Given the description of an element on the screen output the (x, y) to click on. 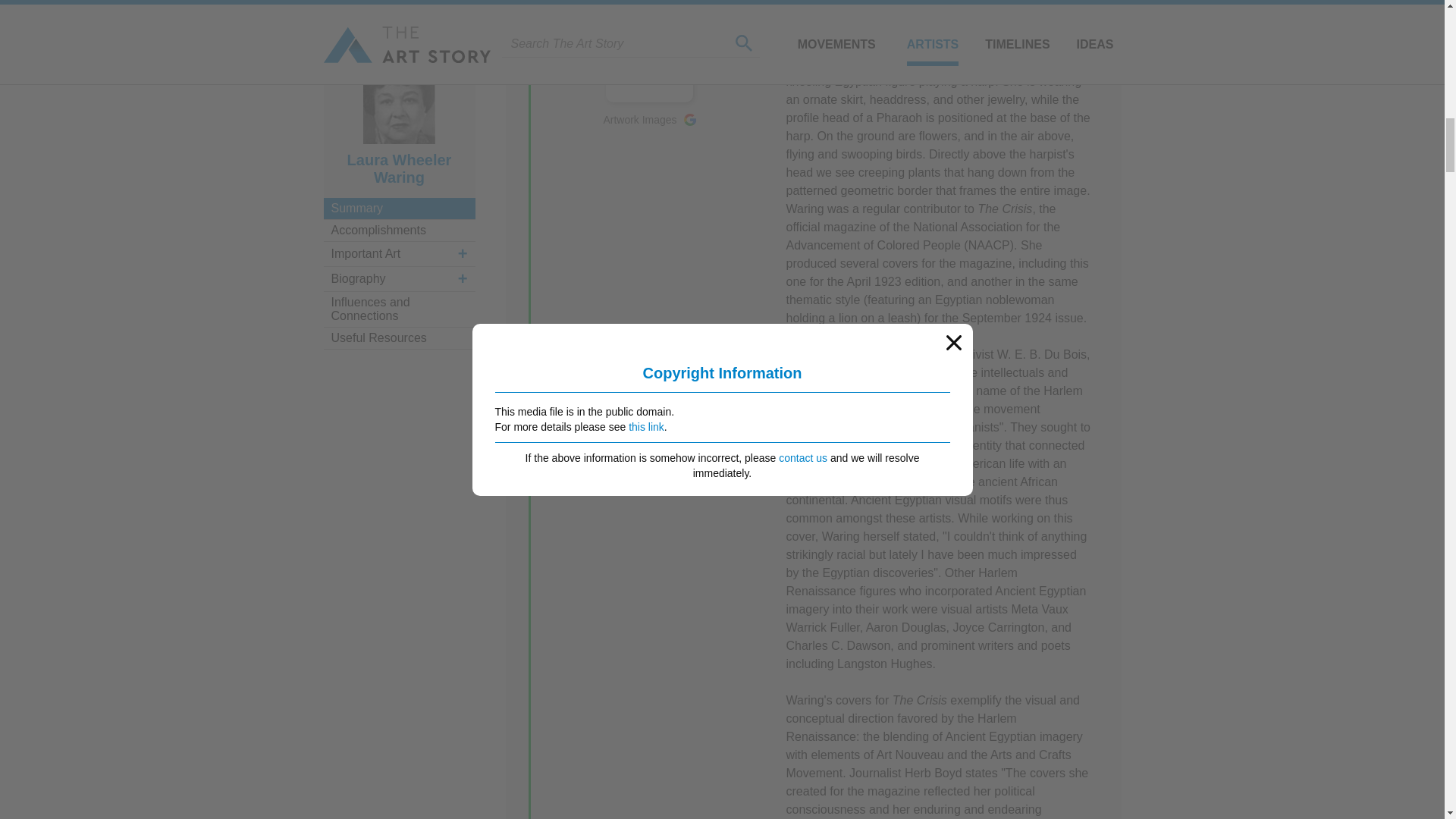
Artwork Images (648, 119)
